Given the description of an element on the screen output the (x, y) to click on. 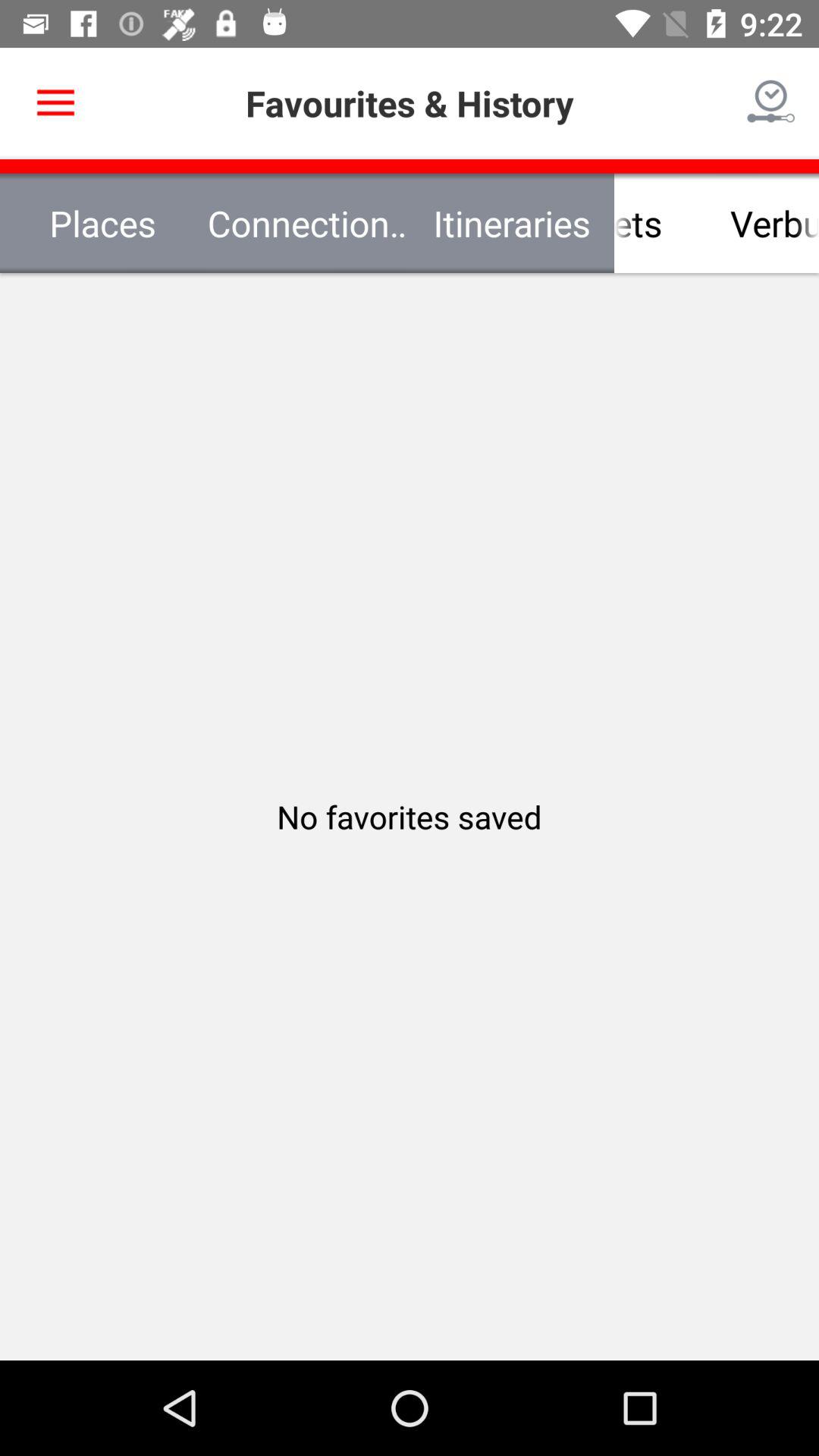
turn on places icon (102, 223)
